Given the description of an element on the screen output the (x, y) to click on. 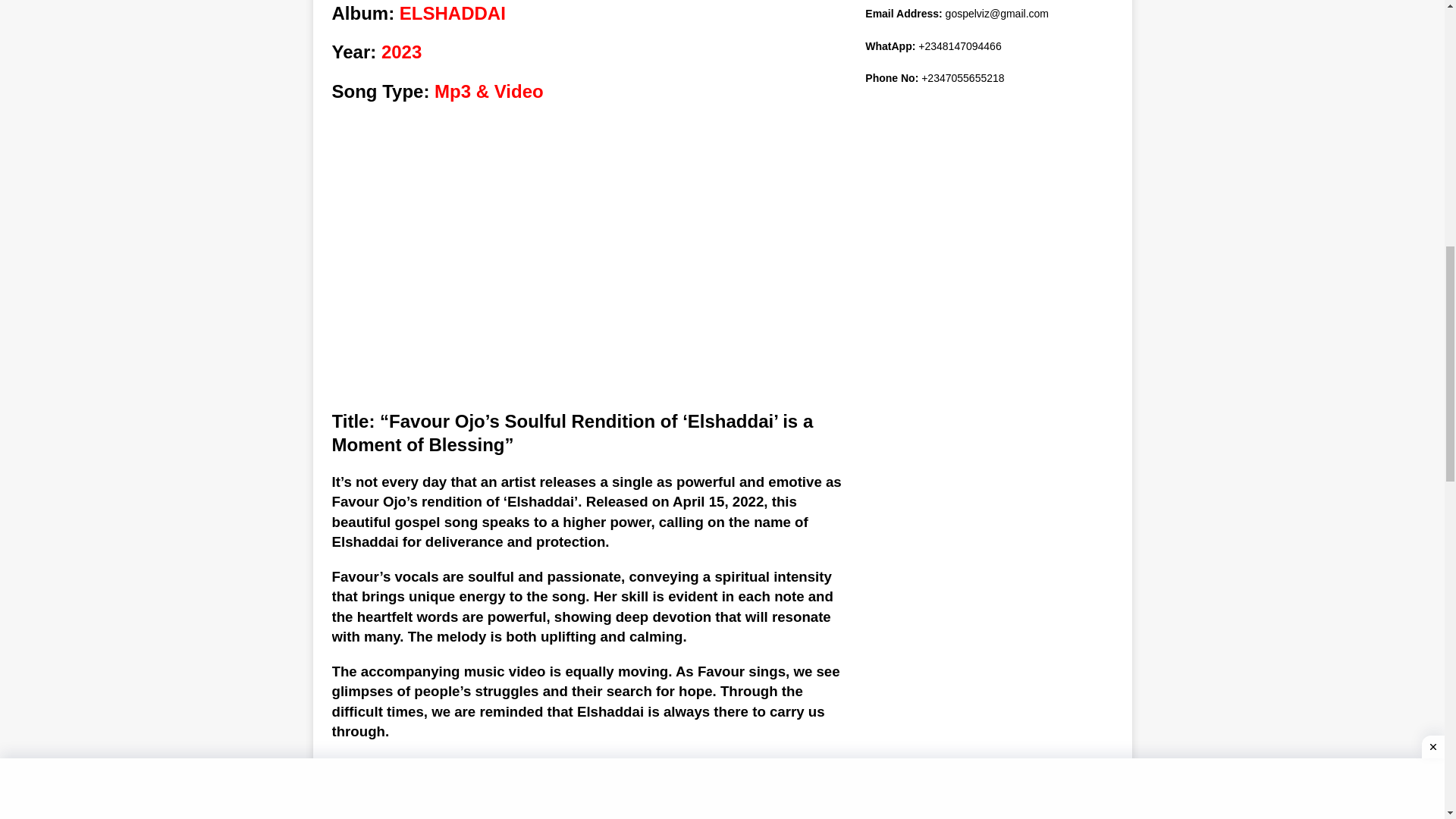
YouTube video player (588, 269)
Play (351, 803)
Mute (784, 803)
